Given the description of an element on the screen output the (x, y) to click on. 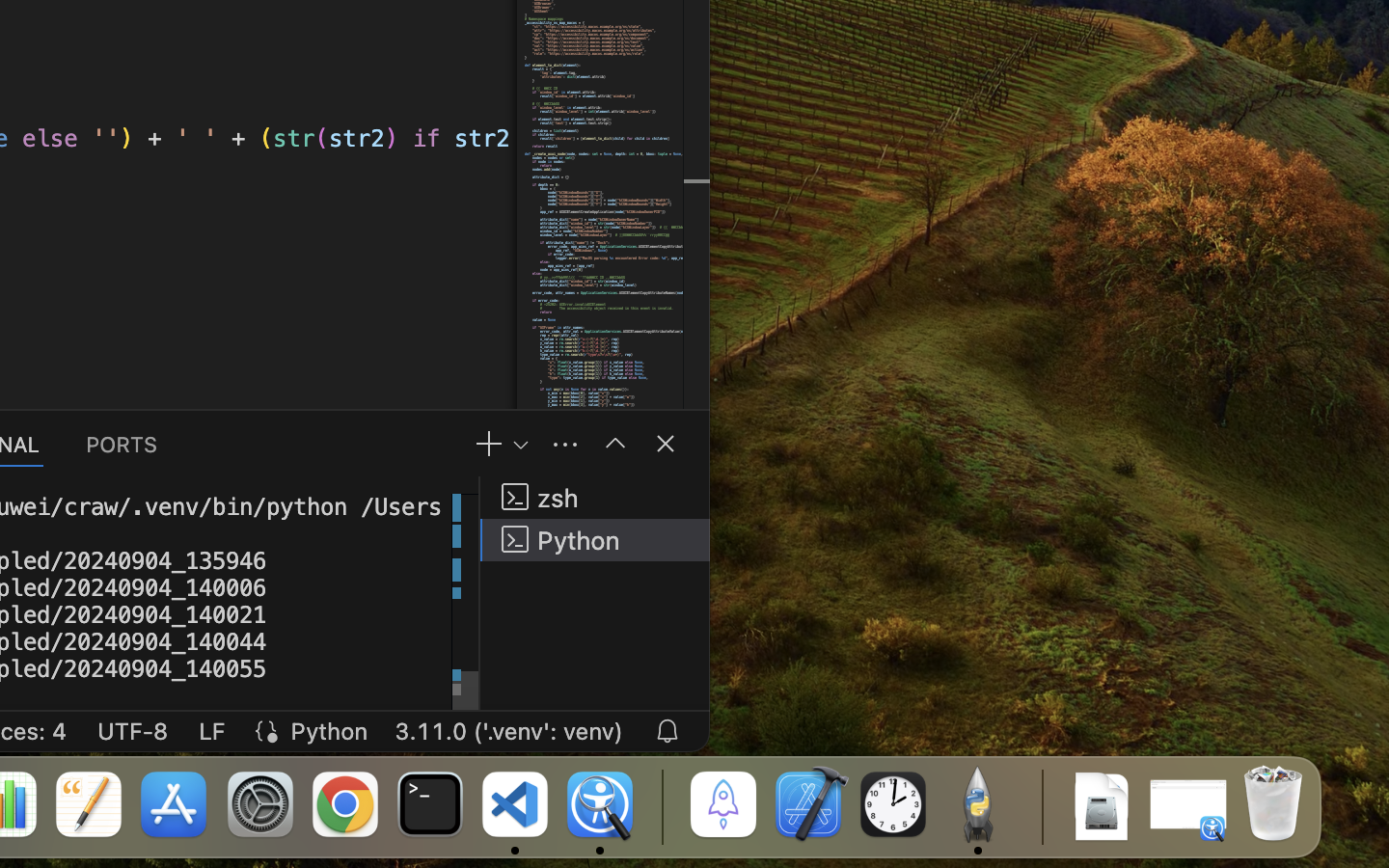
0.4285714328289032 Element type: AXDockItem (660, 805)
